Given the description of an element on the screen output the (x, y) to click on. 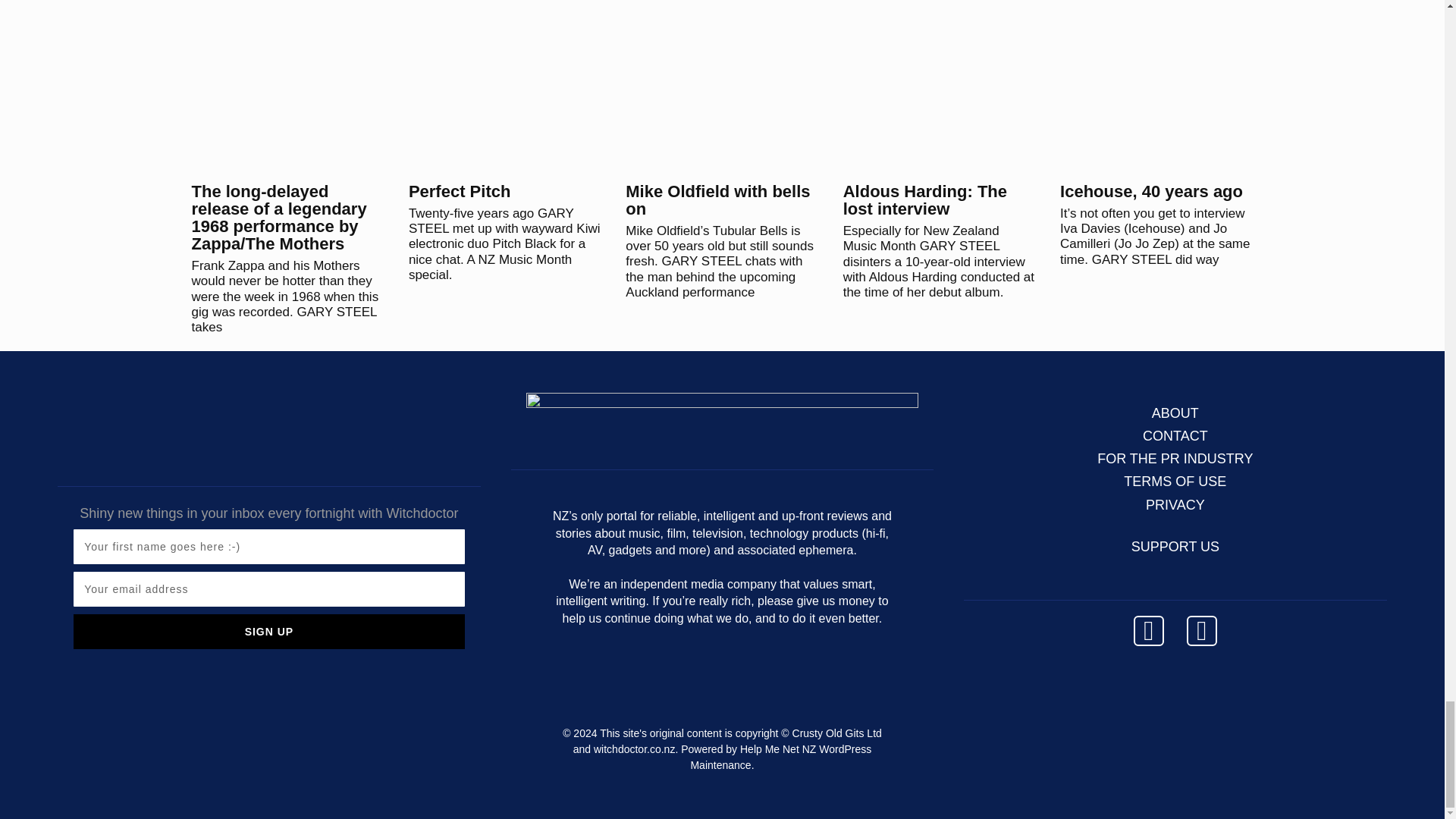
Sign up (269, 631)
